Given the description of an element on the screen output the (x, y) to click on. 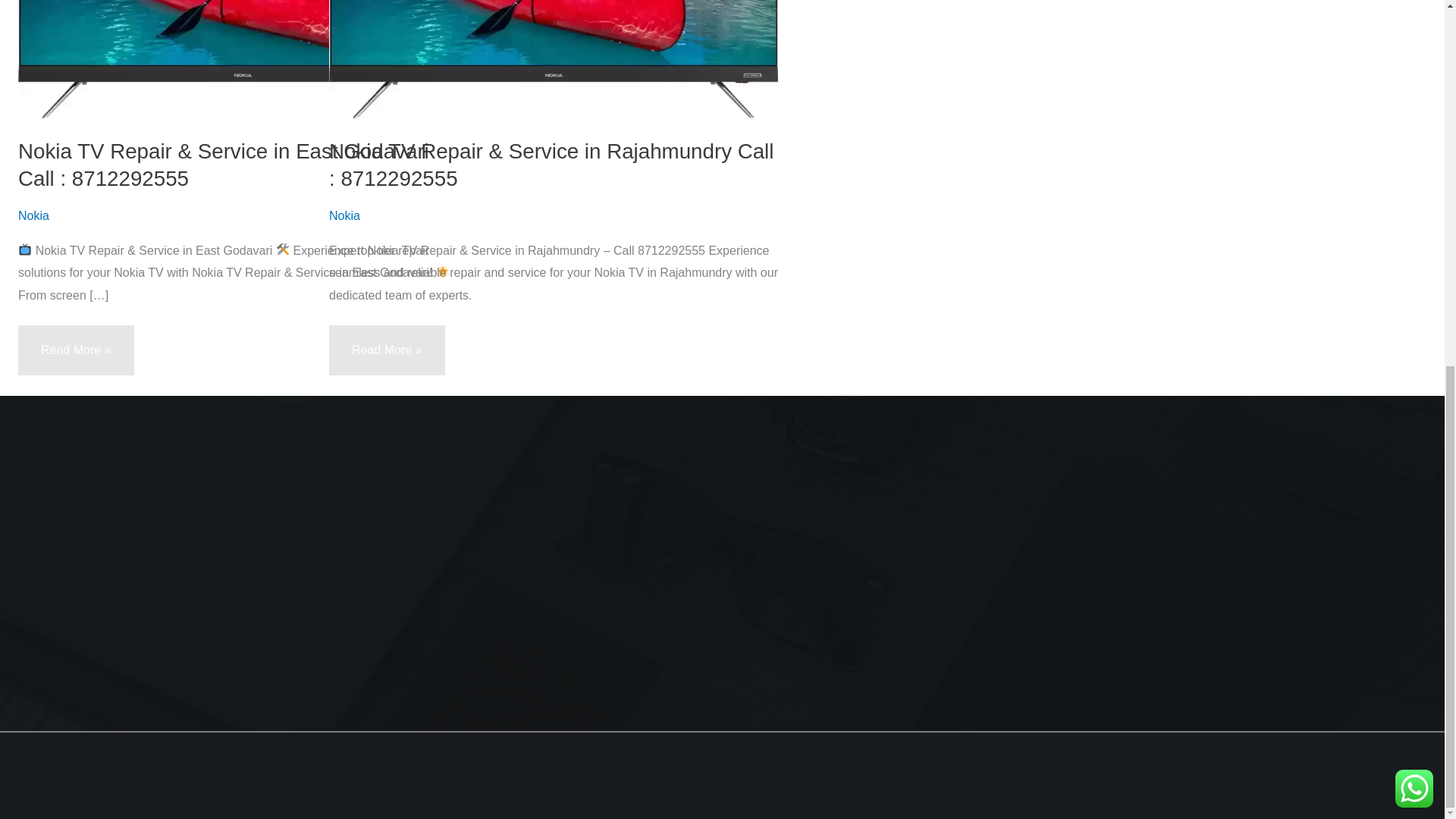
Nokia (33, 215)
Nokia (344, 215)
